Given the description of an element on the screen output the (x, y) to click on. 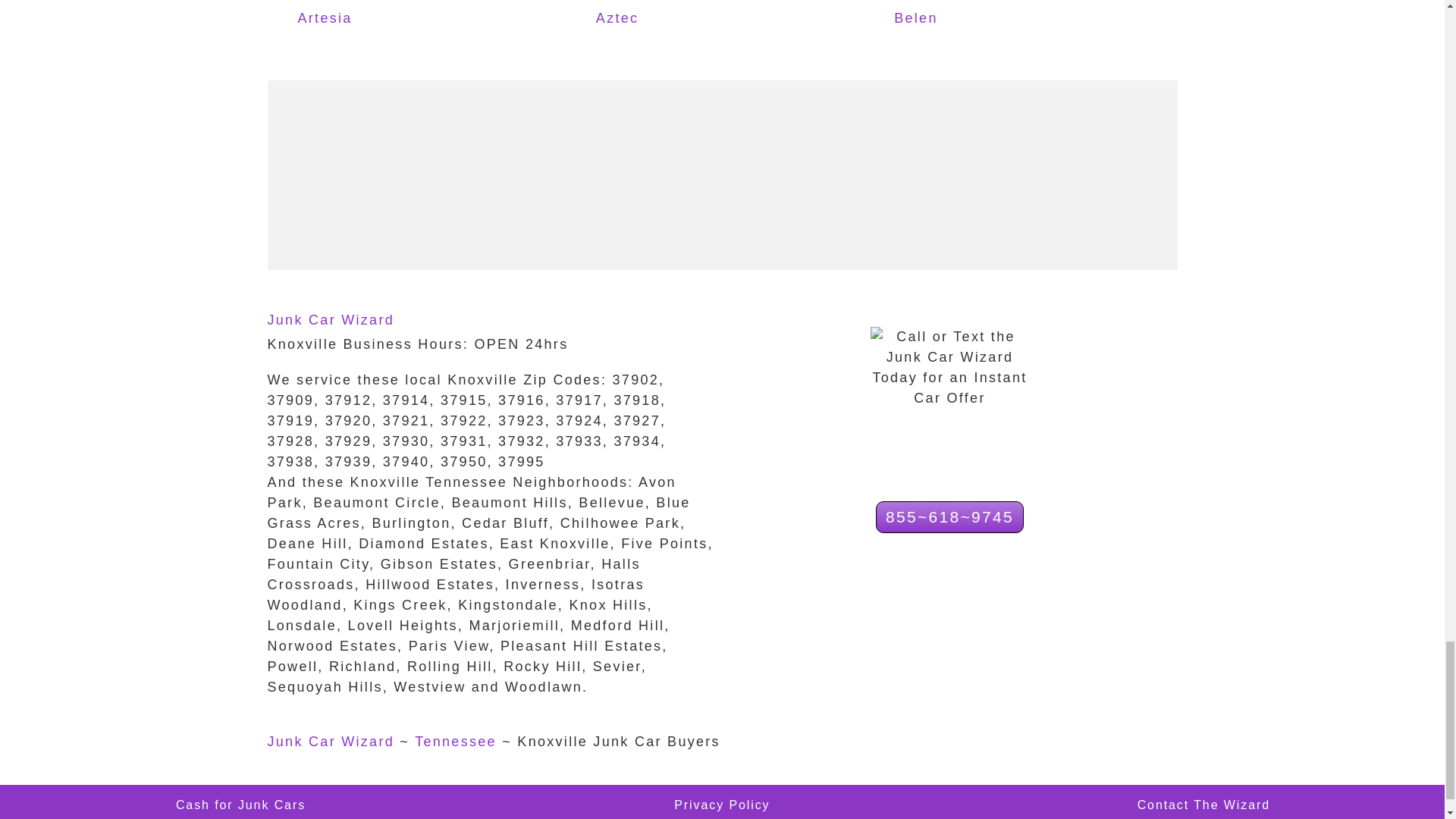
Tennessee (455, 741)
We Buy Junk Cars in Artesia, NM (363, 18)
Junk Car Wizard (330, 741)
We Buy Junk Cars in Belen, NM (960, 18)
Aztec (662, 18)
Belen (960, 18)
Junk Car Wizard (330, 319)
Cash for Junk Cars (240, 804)
Privacy Policy (722, 804)
We Buy Junk Cars in Aztec, NM (662, 18)
